Given the description of an element on the screen output the (x, y) to click on. 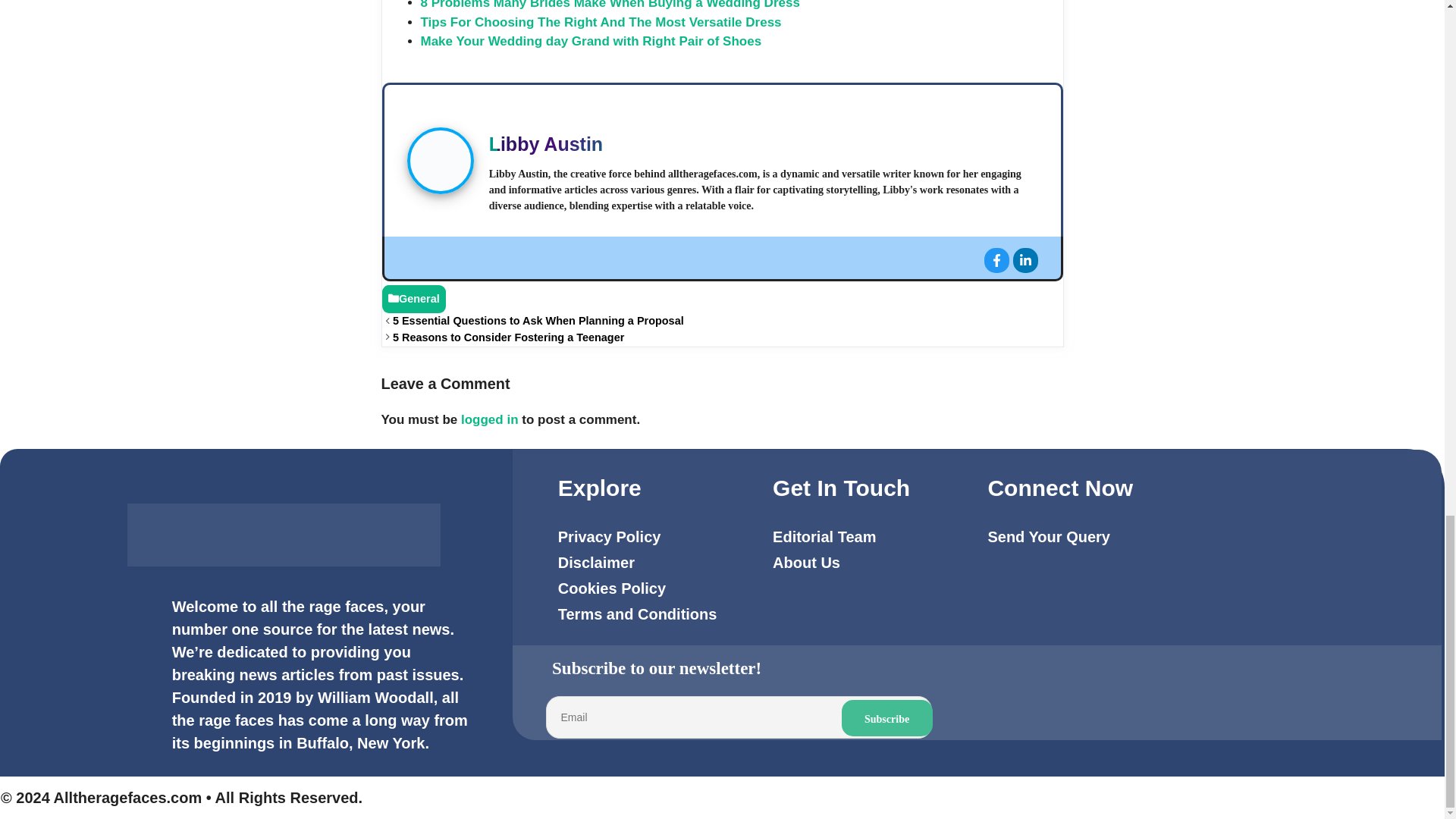
Tips For Choosing The Right And The Most Versatile Dress (600, 22)
8 Problems Many Brides Make When Buying a Wedding Dress (609, 4)
Make Your Wedding day Grand with Right Pair of Shoes (590, 41)
Subscribe (887, 718)
